Given the description of an element on the screen output the (x, y) to click on. 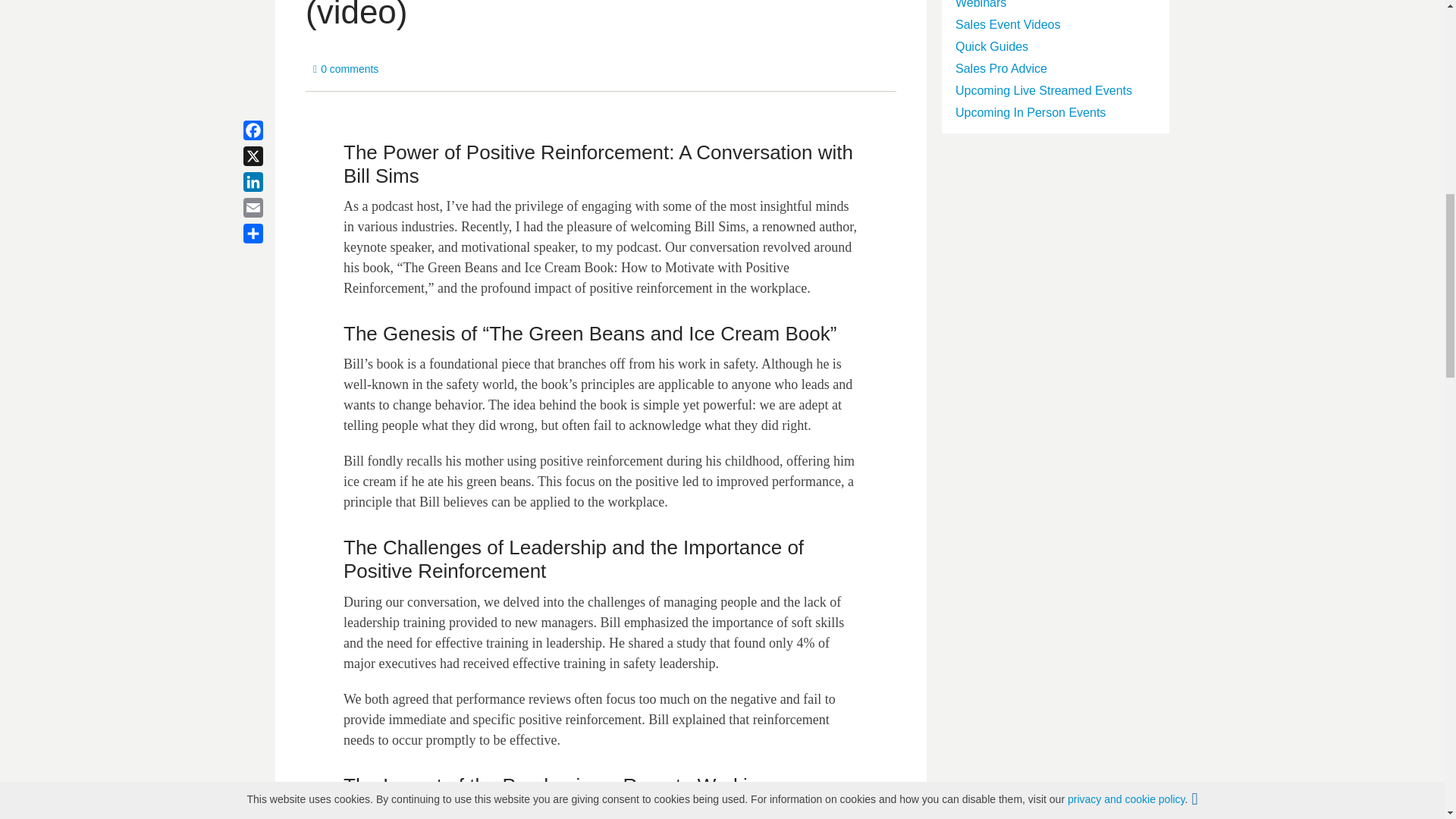
X (271, 155)
Facebook (271, 130)
LinkedIn (271, 181)
Email (271, 207)
X (271, 155)
Email (271, 207)
Facebook (271, 130)
0 comments (345, 68)
LinkedIn (271, 181)
